Given the description of an element on the screen output the (x, y) to click on. 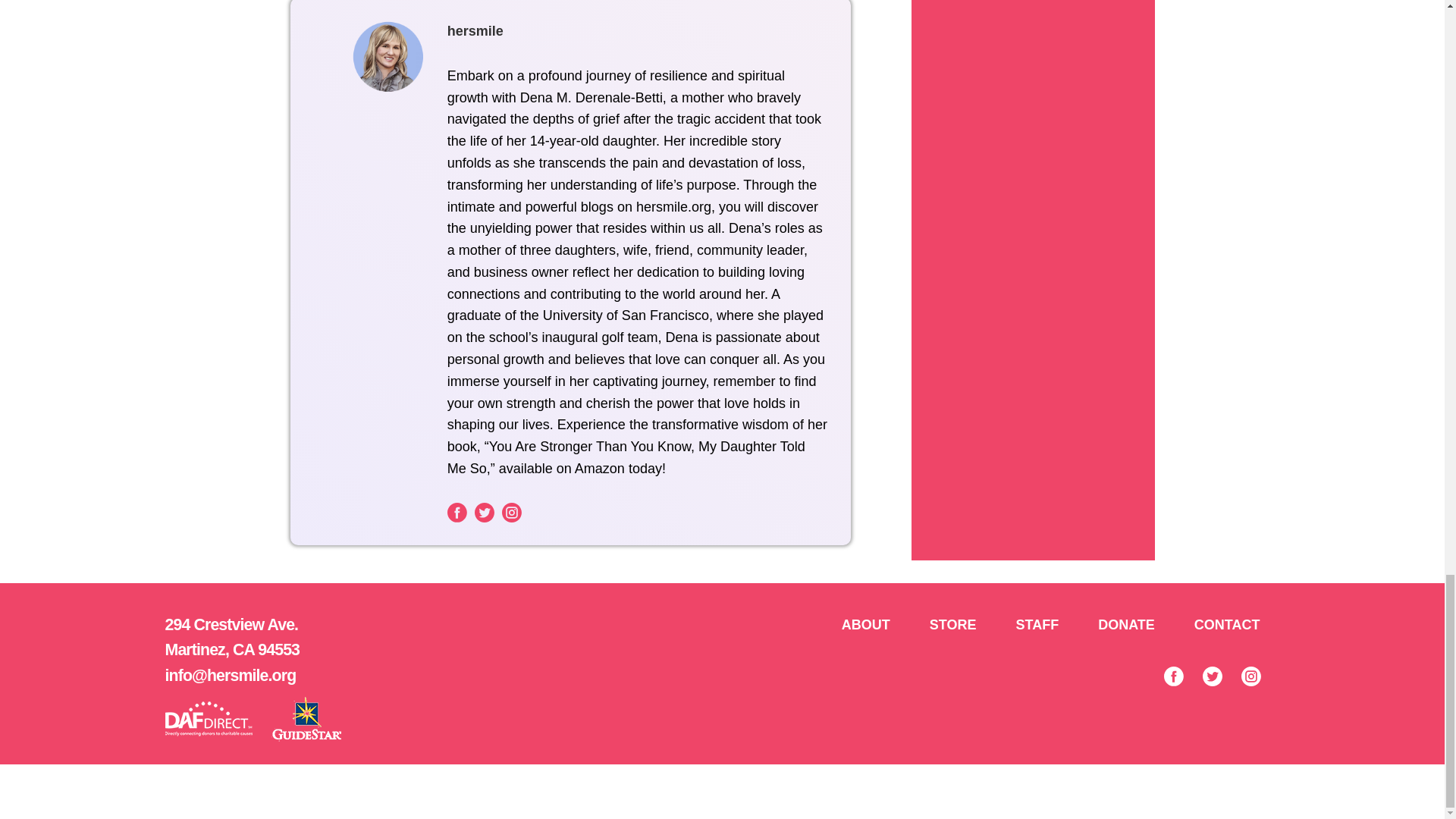
DONATE (1126, 624)
Twitter (1211, 676)
Twitter (483, 512)
ABOUT (866, 624)
CONTACT (1226, 624)
Facebook (457, 512)
Instagram (511, 512)
STAFF (1036, 624)
Instagram (1250, 676)
STORE (952, 624)
